Given the description of an element on the screen output the (x, y) to click on. 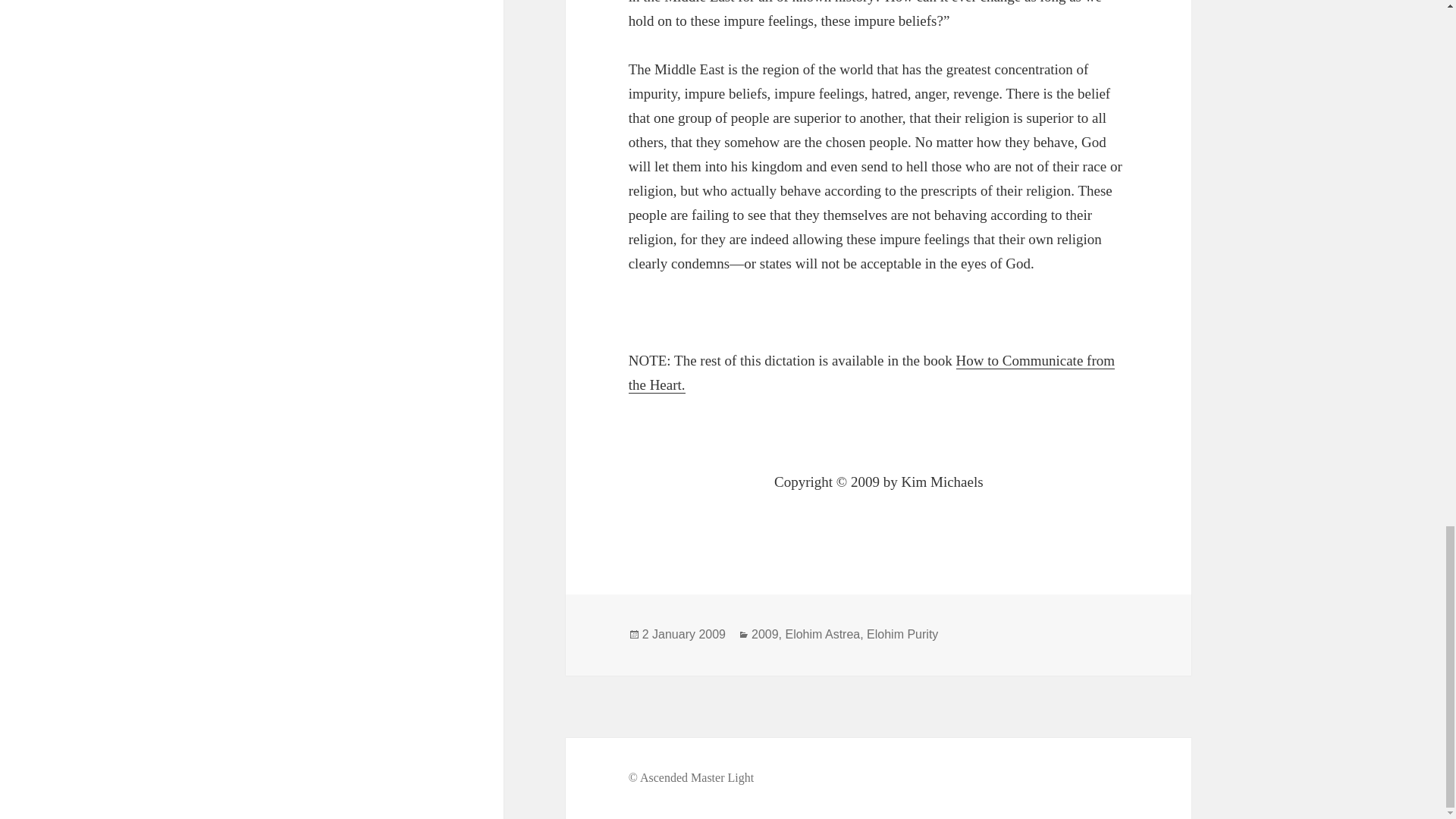
How to Communicate from the Heart. (871, 372)
2009 (764, 634)
2 January 2009 (683, 634)
Elohim Purity (901, 634)
Elohim Astrea (822, 634)
